Given the description of an element on the screen output the (x, y) to click on. 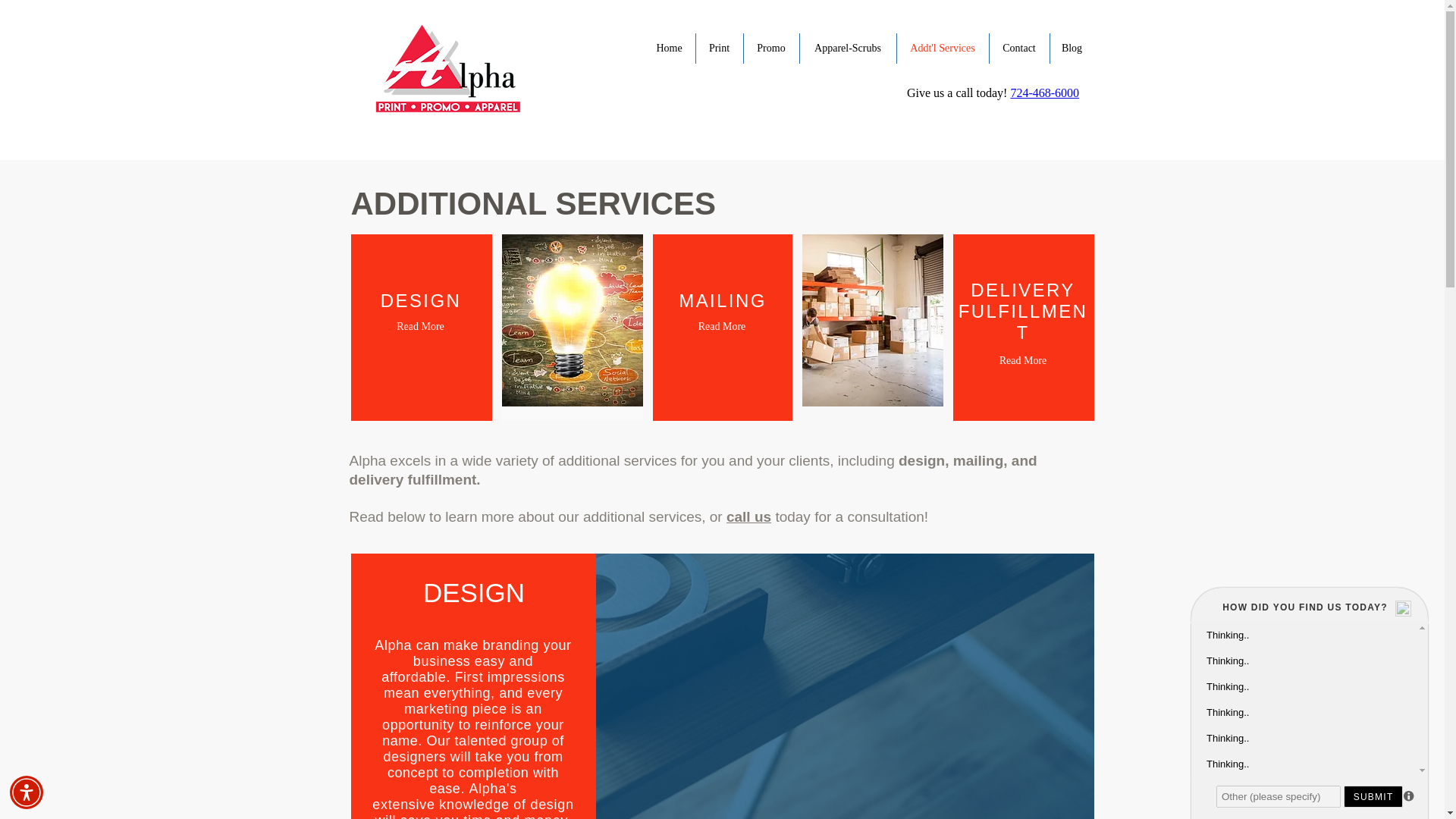
Contact (1018, 48)
Read More (1022, 360)
Promo (769, 48)
Accessibility Menu (26, 792)
Read More (721, 325)
Home (668, 48)
Survey: How did you find our site? (1309, 699)
Apparel-Scrubs (847, 48)
Read More (419, 325)
Embedded Content (995, 111)
AlphaPPA-web.png (447, 67)
Print (718, 48)
call us (748, 516)
Blog (1071, 48)
Addt'l Services (942, 48)
